Given the description of an element on the screen output the (x, y) to click on. 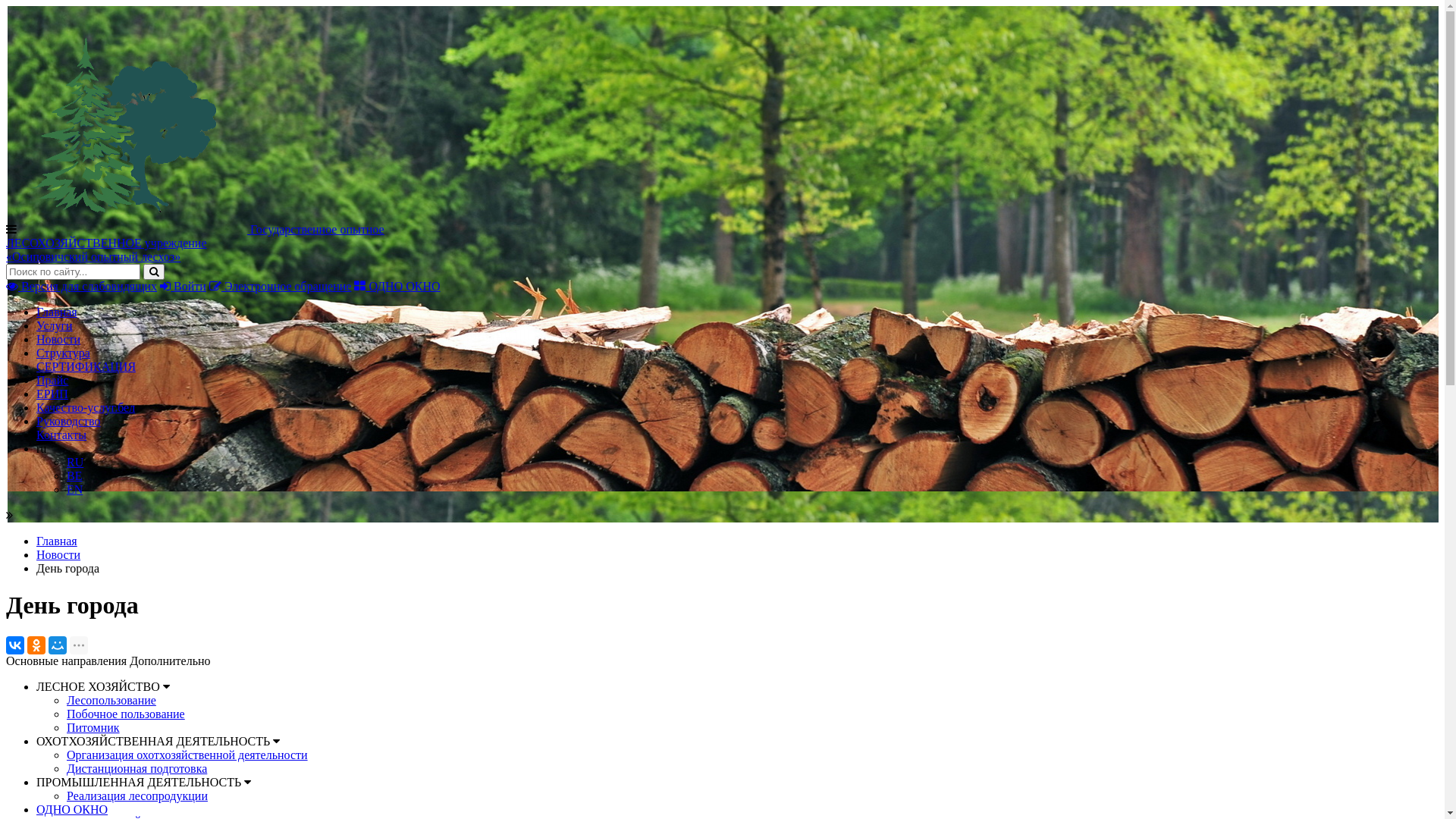
EN Element type: text (74, 489)
ru Element type: text (41, 448)
RU Element type: text (74, 461)
BE Element type: text (73, 475)
